Given the description of an element on the screen output the (x, y) to click on. 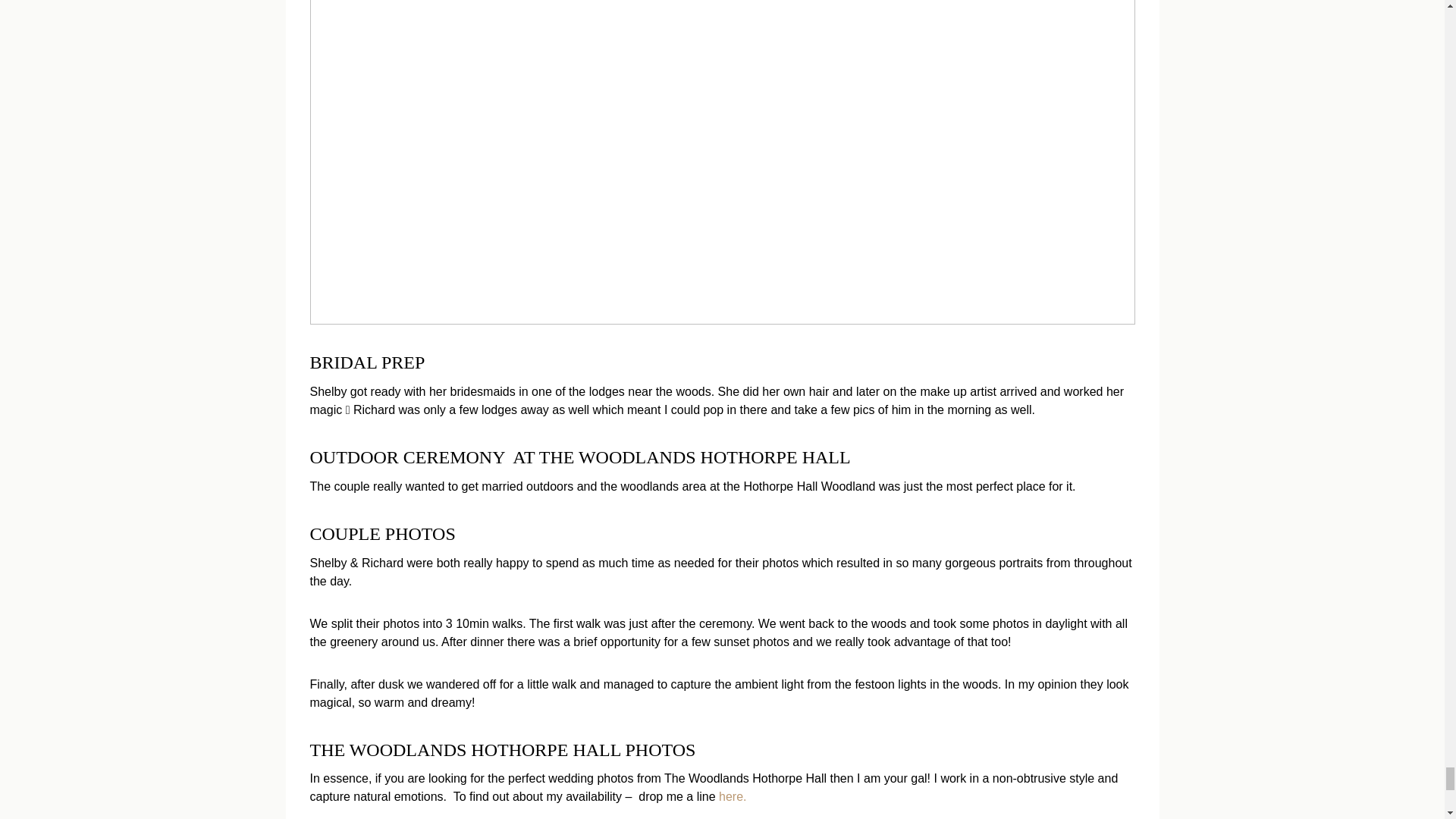
here. (732, 796)
